Given the description of an element on the screen output the (x, y) to click on. 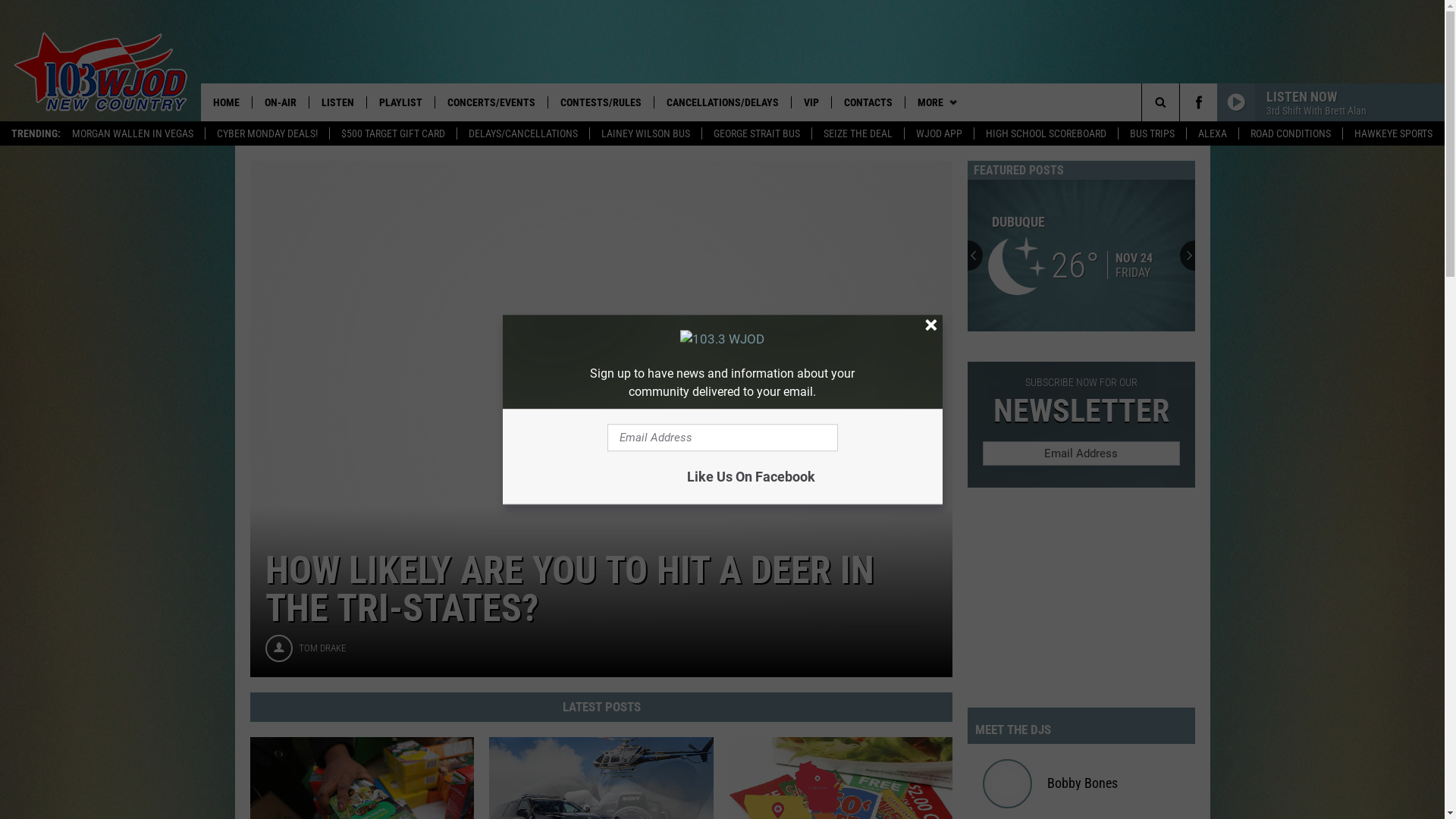
VIP Element type: text (810, 102)
ON-AIR Element type: text (279, 102)
LISTEN Element type: text (337, 102)
MORGAN WALLEN IN VEGAS Element type: text (132, 133)
ROAD CONDITIONS Element type: text (1290, 133)
Visit us on Facebook Element type: text (1198, 102)
$500 TARGET GIFT CARD Element type: text (392, 133)
SEIZE THE DEAL Element type: text (857, 133)
Close Element type: hover (930, 325)
SEARCH Element type: text (1184, 102)
GEORGE STRAIT BUS Element type: text (756, 133)
CONTESTS/RULES Element type: text (600, 102)
WJOD APP Element type: text (938, 133)
CONCERTS/EVENTS Element type: text (490, 102)
LAINEY WILSON BUS Element type: text (645, 133)
BUS TRIPS Element type: text (1151, 133)
DELAYS/CANCELLATIONS Element type: text (522, 133)
Dubuque Weather Element type: hover (1081, 255)
PLAYLIST Element type: text (400, 102)
LISTEN NOW
3rd Shift With Brett Alan Element type: text (1330, 102)
ALEXA Element type: text (1212, 133)
HOME Element type: text (225, 102)
CYBER MONDAY DEALS! Element type: text (266, 133)
CANCELLATIONS/DELAYS Element type: text (721, 102)
Bobby Bones Element type: text (1086, 783)
CONTACTS Element type: text (867, 102)
HAWKEYE SPORTS Element type: text (1392, 133)
HIGH SCHOOL SCOREBOARD Element type: text (1045, 133)
